Given the description of an element on the screen output the (x, y) to click on. 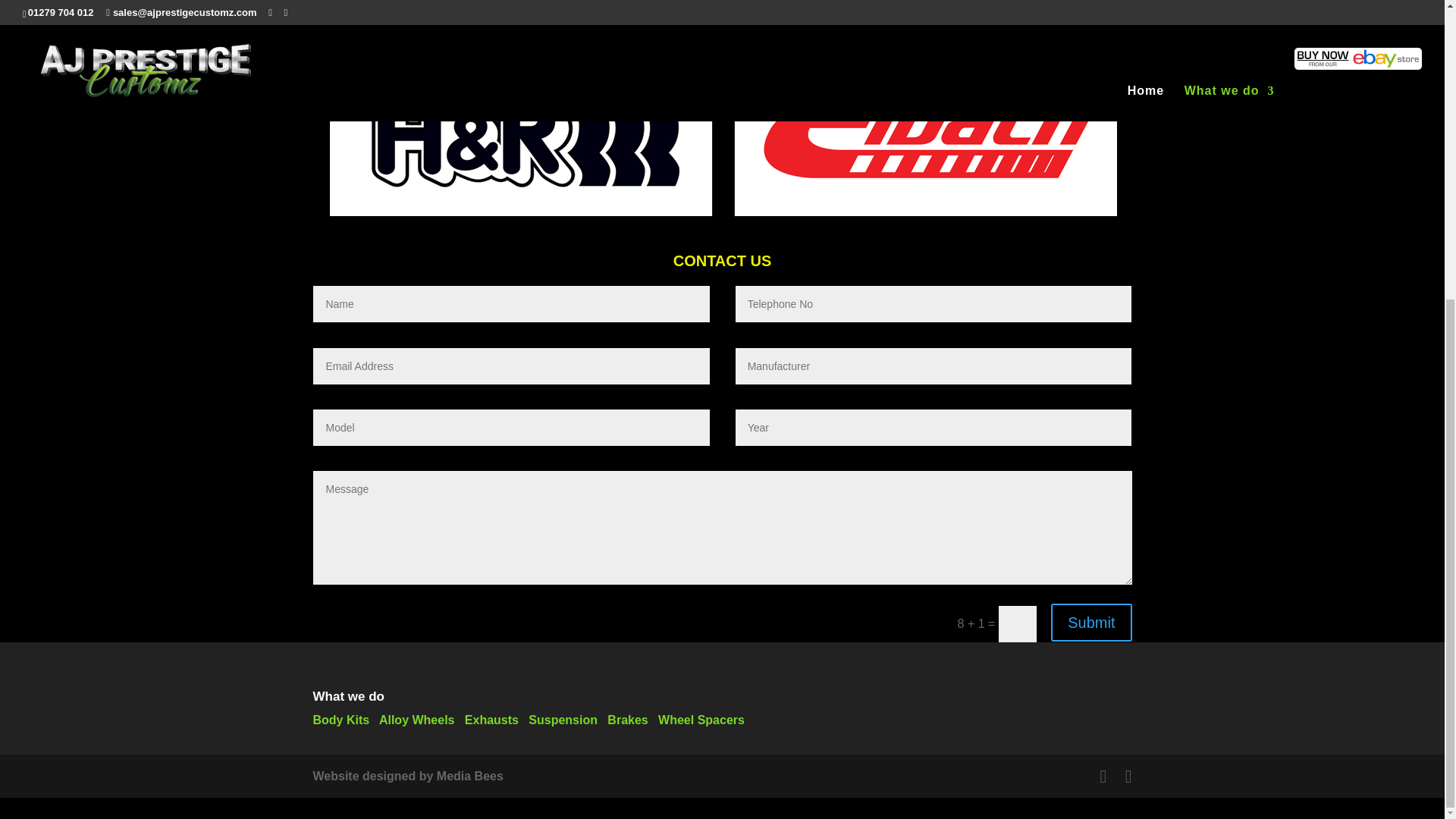
Suspension (562, 719)
Wheel Spacers (701, 719)
Body Kits (341, 719)
Submit (1091, 622)
Exhausts (491, 719)
Alloy Wheels (416, 719)
Brakes (627, 719)
